Given the description of an element on the screen output the (x, y) to click on. 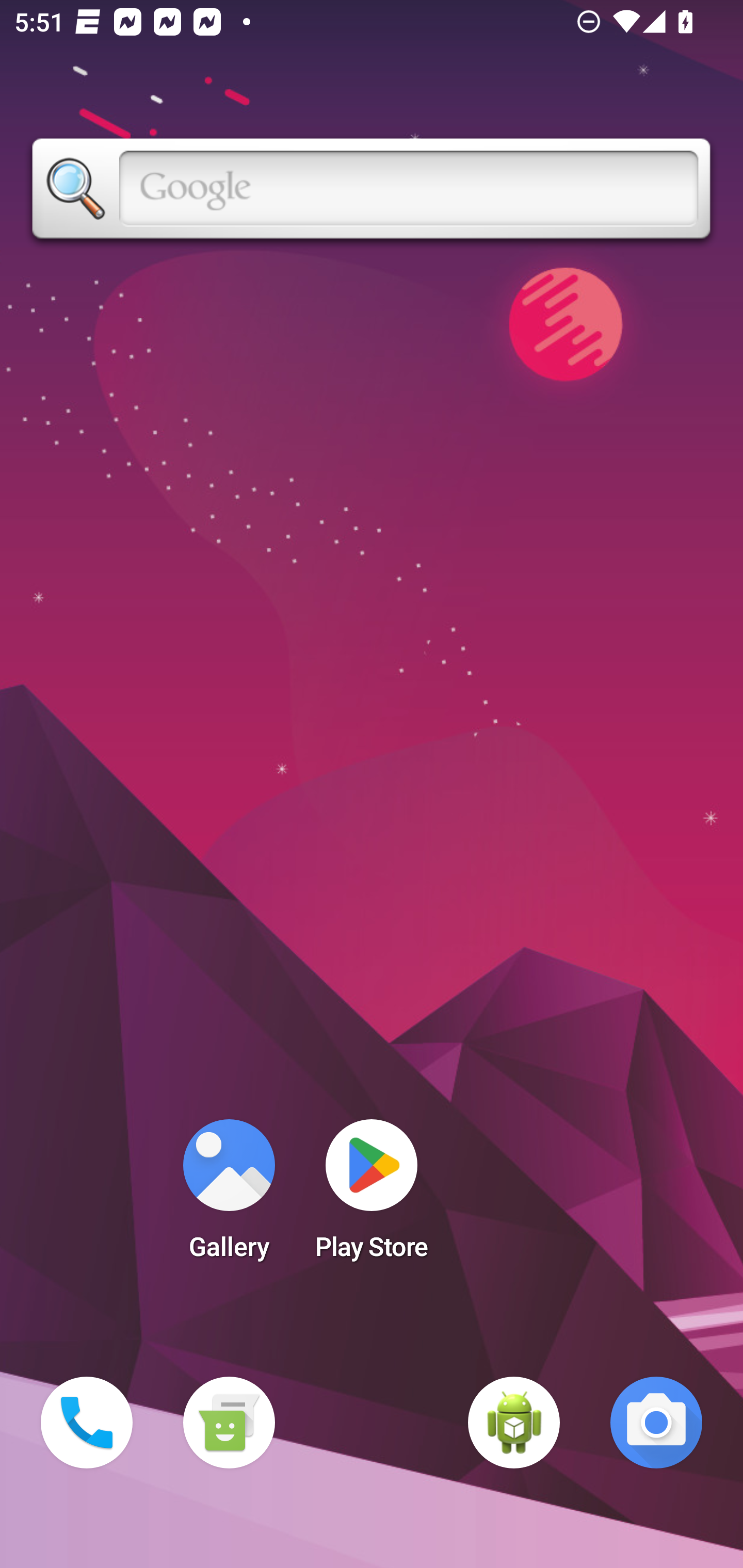
Gallery (228, 1195)
Play Store (371, 1195)
Phone (86, 1422)
Messaging (228, 1422)
WebView Browser Tester (513, 1422)
Camera (656, 1422)
